Given the description of an element on the screen output the (x, y) to click on. 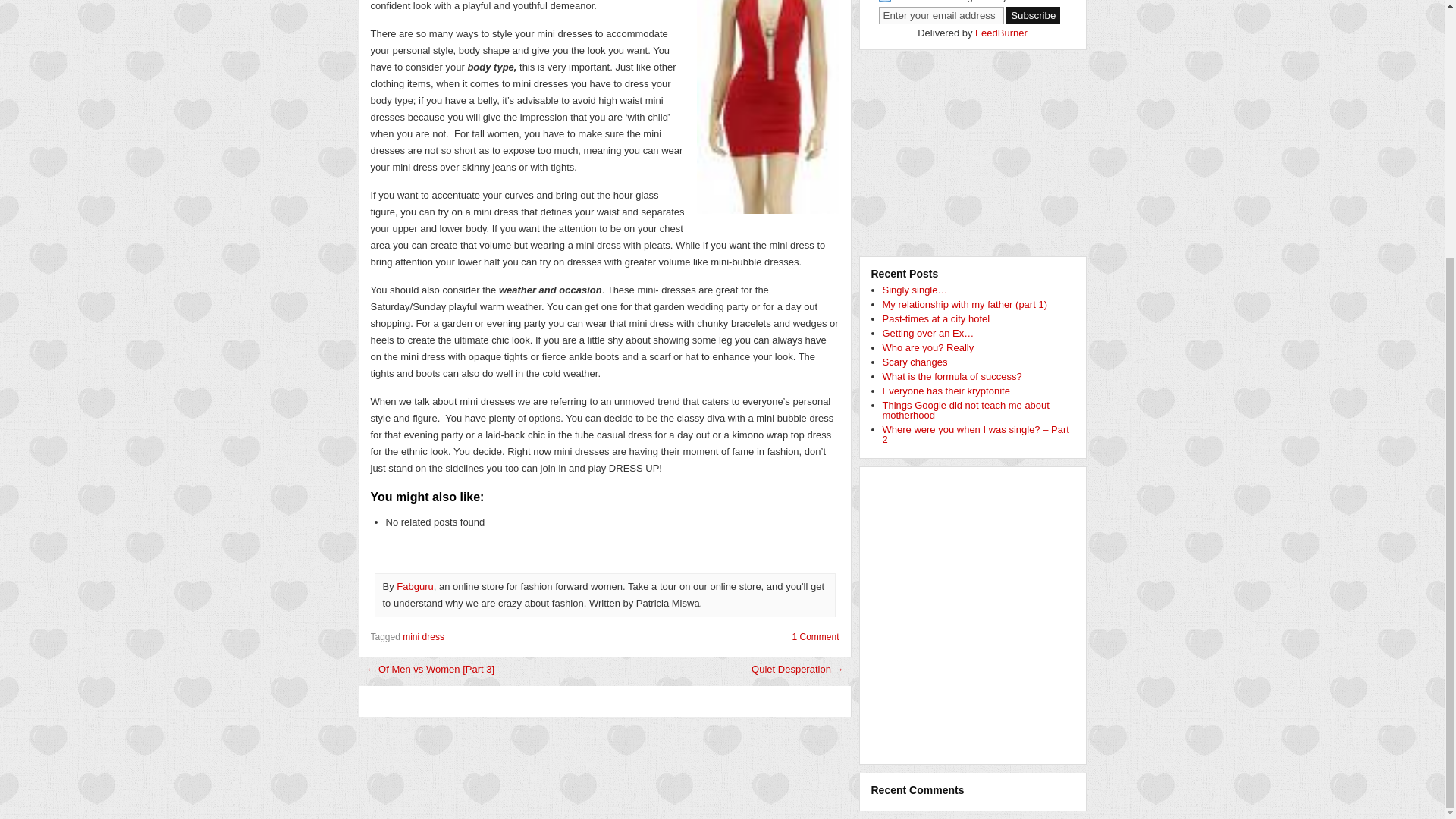
Enter your email address (940, 15)
Subscribe (1032, 15)
